Given the description of an element on the screen output the (x, y) to click on. 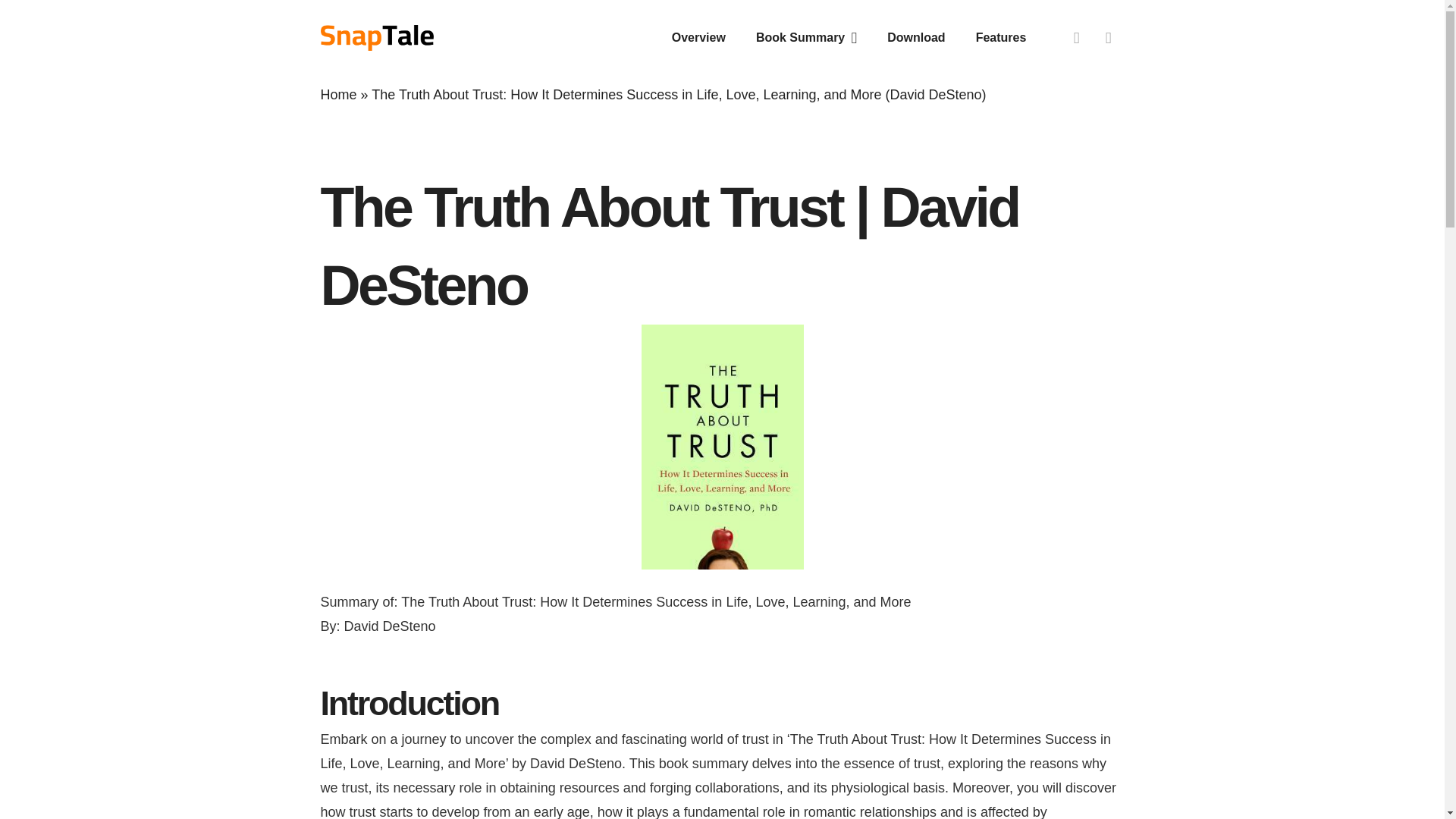
Book Summary (806, 37)
Features (1001, 37)
Download (915, 37)
Overview (698, 37)
Apple Store (1077, 38)
Home (338, 93)
Google Play (1108, 38)
